Given the description of an element on the screen output the (x, y) to click on. 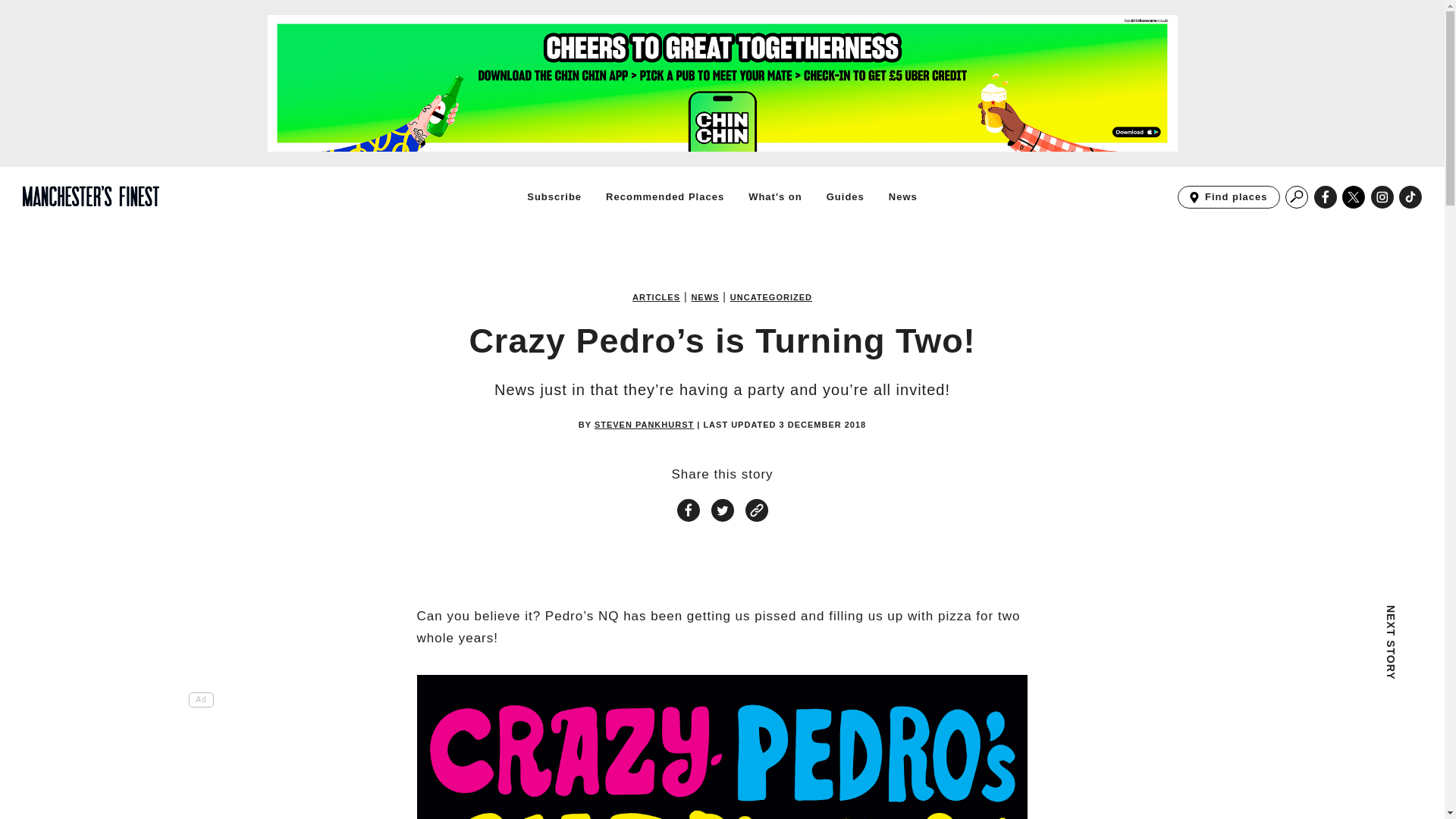
ARTICLES (655, 297)
Go to Manchester's Finest Facebook page (1325, 196)
STEVEN PANKHURST (644, 423)
Go to Manchester's Finest Instagram profile (1382, 196)
Go to Manchester's Finest Facebook page (1325, 196)
Subscribe (553, 196)
Go to Manchester's Finest TikTok profile (1410, 196)
Go to Manchester's Finest Instagram profile (1382, 196)
Go to Manchester's Finest TikTok profile (1410, 196)
Guides (845, 196)
